Given the description of an element on the screen output the (x, y) to click on. 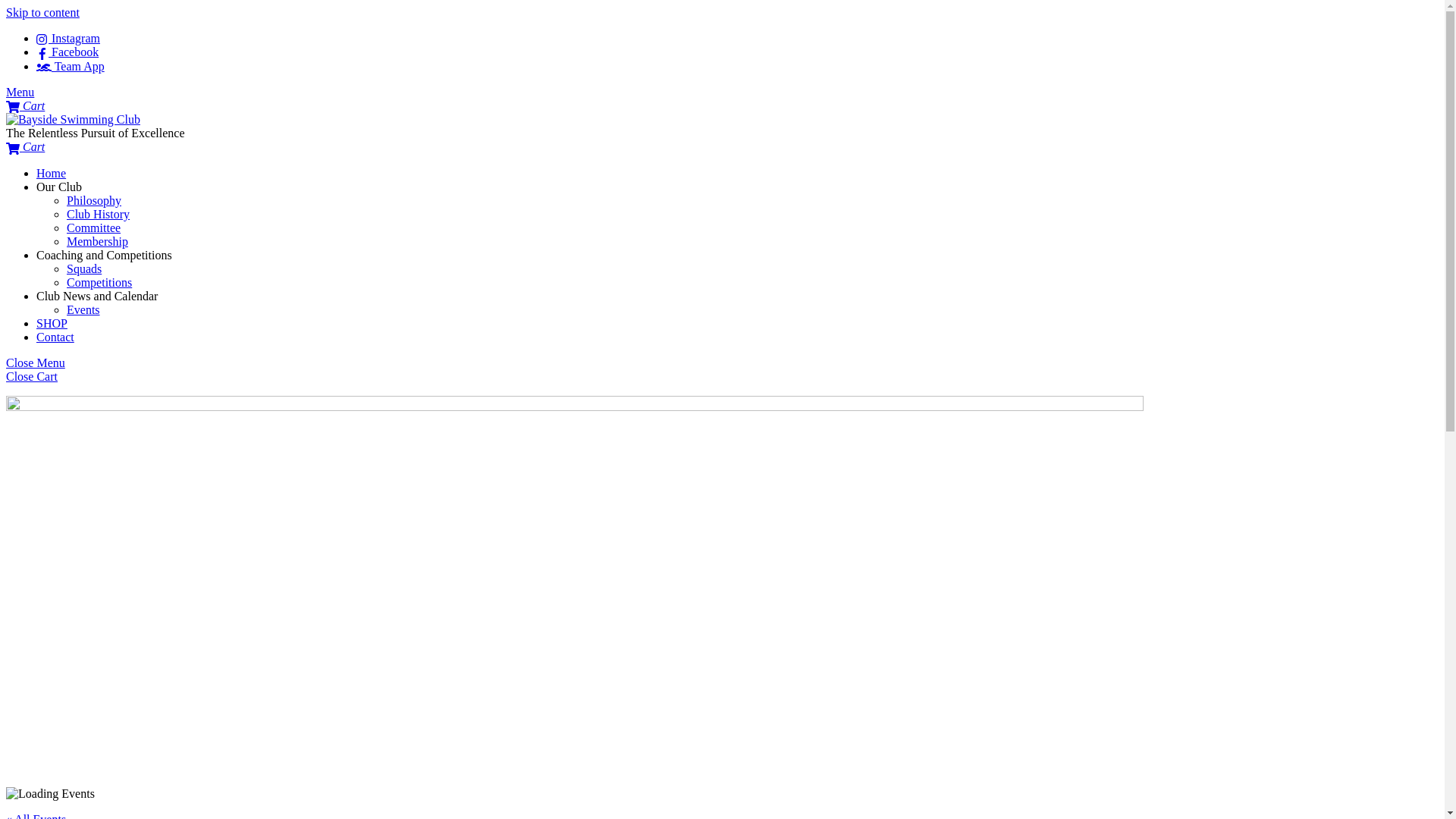
Coaching and Competitions Element type: text (104, 254)
Home Element type: text (50, 172)
Bayside Swimming Club Element type: hover (73, 118)
Close Menu Element type: text (35, 362)
Club News and Calendar Element type: text (96, 295)
Squads Element type: text (83, 268)
Team App Element type: text (70, 65)
Skip to content Element type: text (42, 12)
Cart Element type: text (25, 105)
Club History Element type: text (97, 213)
Events Element type: text (83, 309)
Instagram Element type: text (68, 37)
Committee Element type: text (93, 227)
SHOP Element type: text (51, 322)
Menu Element type: text (20, 91)
Facebook Element type: text (67, 51)
Membership Element type: text (97, 241)
Cart Element type: text (25, 146)
Close Cart Element type: text (31, 376)
Competitions Element type: text (98, 282)
Our Club Element type: text (58, 186)
Contact Element type: text (55, 336)
Philosophy Element type: text (93, 200)
